Given the description of an element on the screen output the (x, y) to click on. 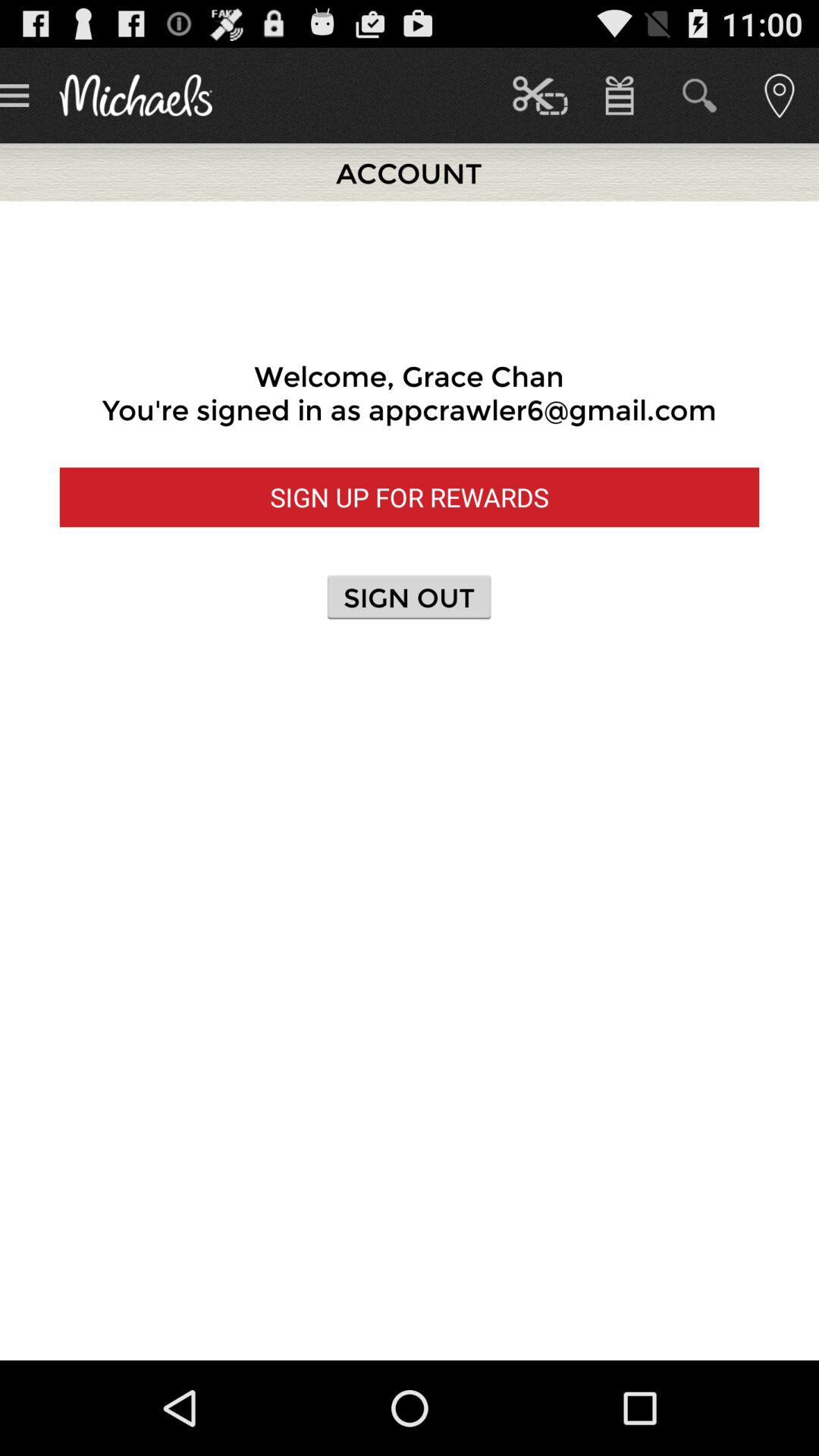
flip until sign up for item (409, 497)
